Given the description of an element on the screen output the (x, y) to click on. 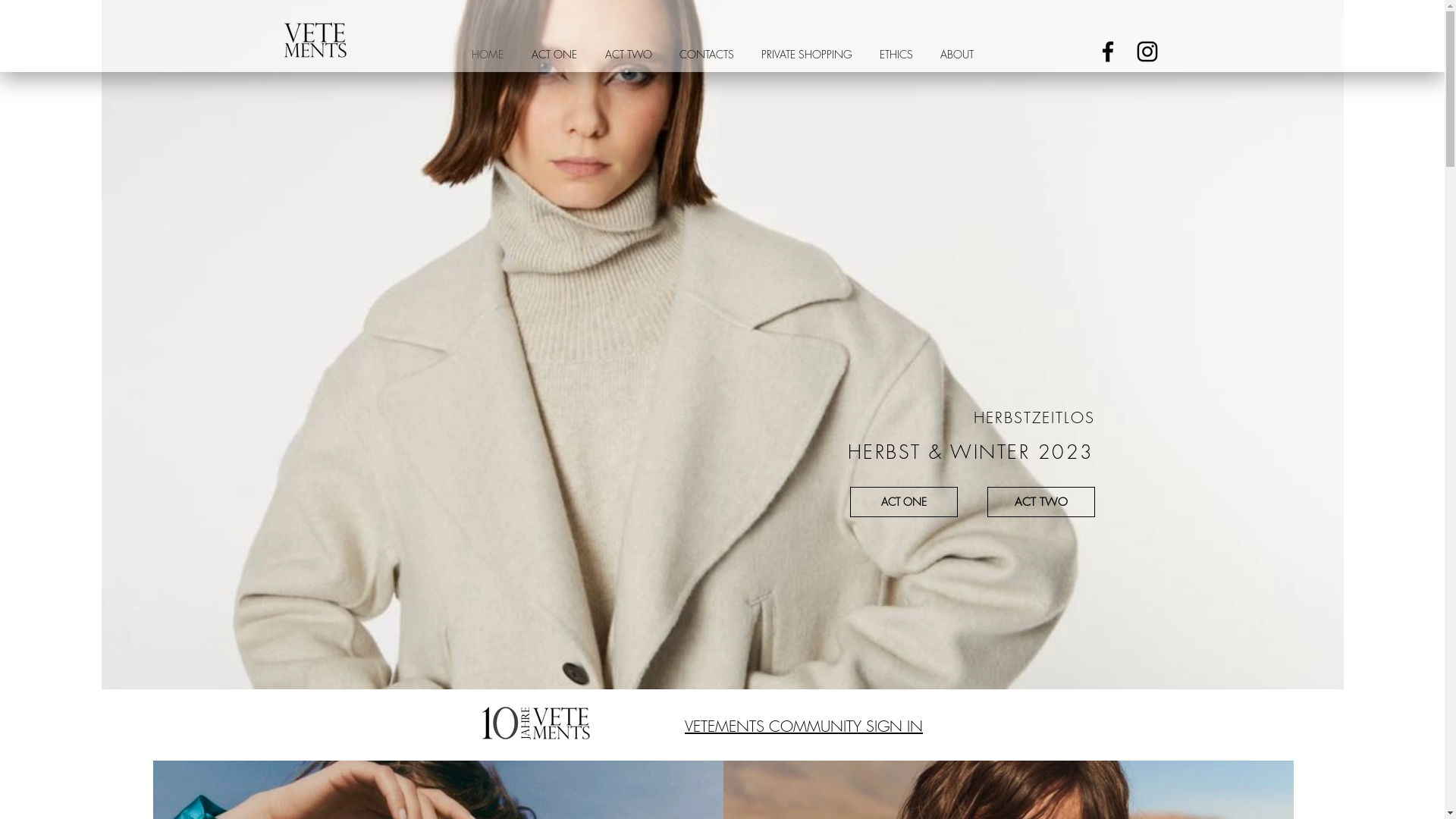
PRIVATE SHOPPING Element type: text (806, 54)
ABOUT Element type: text (956, 54)
CONTACTS Element type: text (706, 54)
ACT ONE Element type: text (903, 501)
ACT TWO Element type: text (628, 54)
ACT TWO Element type: text (1041, 501)
ACT ONE Element type: text (553, 54)
VETEMENTS COMMUNITY SIGN IN Element type: text (803, 726)
HOME Element type: text (487, 54)
ETHICS Element type: text (896, 54)
